Given the description of an element on the screen output the (x, y) to click on. 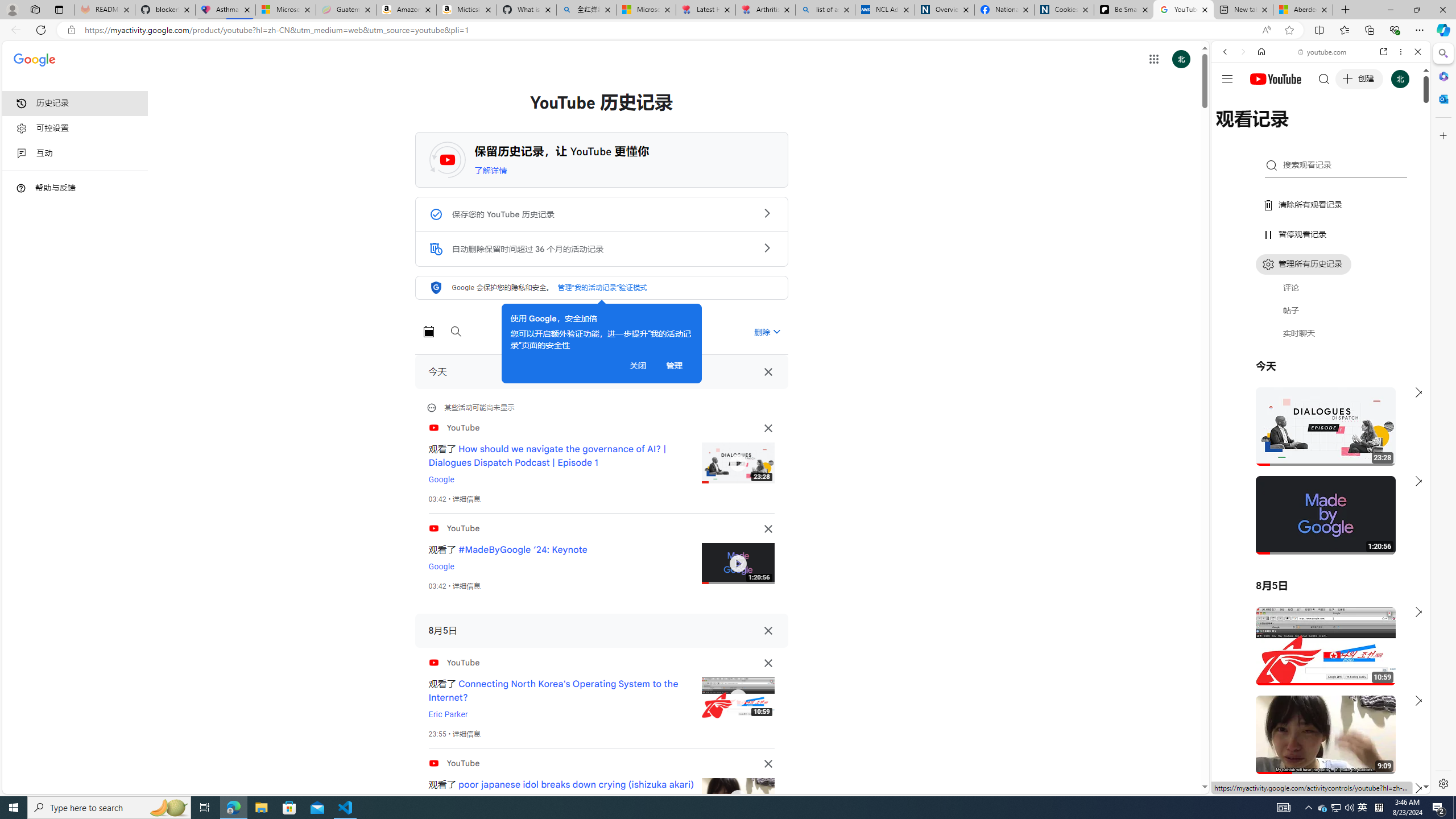
Music (1320, 309)
Search Filter, WEB (1230, 129)
Be Smart | creating Science videos | Patreon (1123, 9)
Class: b_serphb (1404, 130)
Cookies | About | NICE (1064, 9)
